Given the description of an element on the screen output the (x, y) to click on. 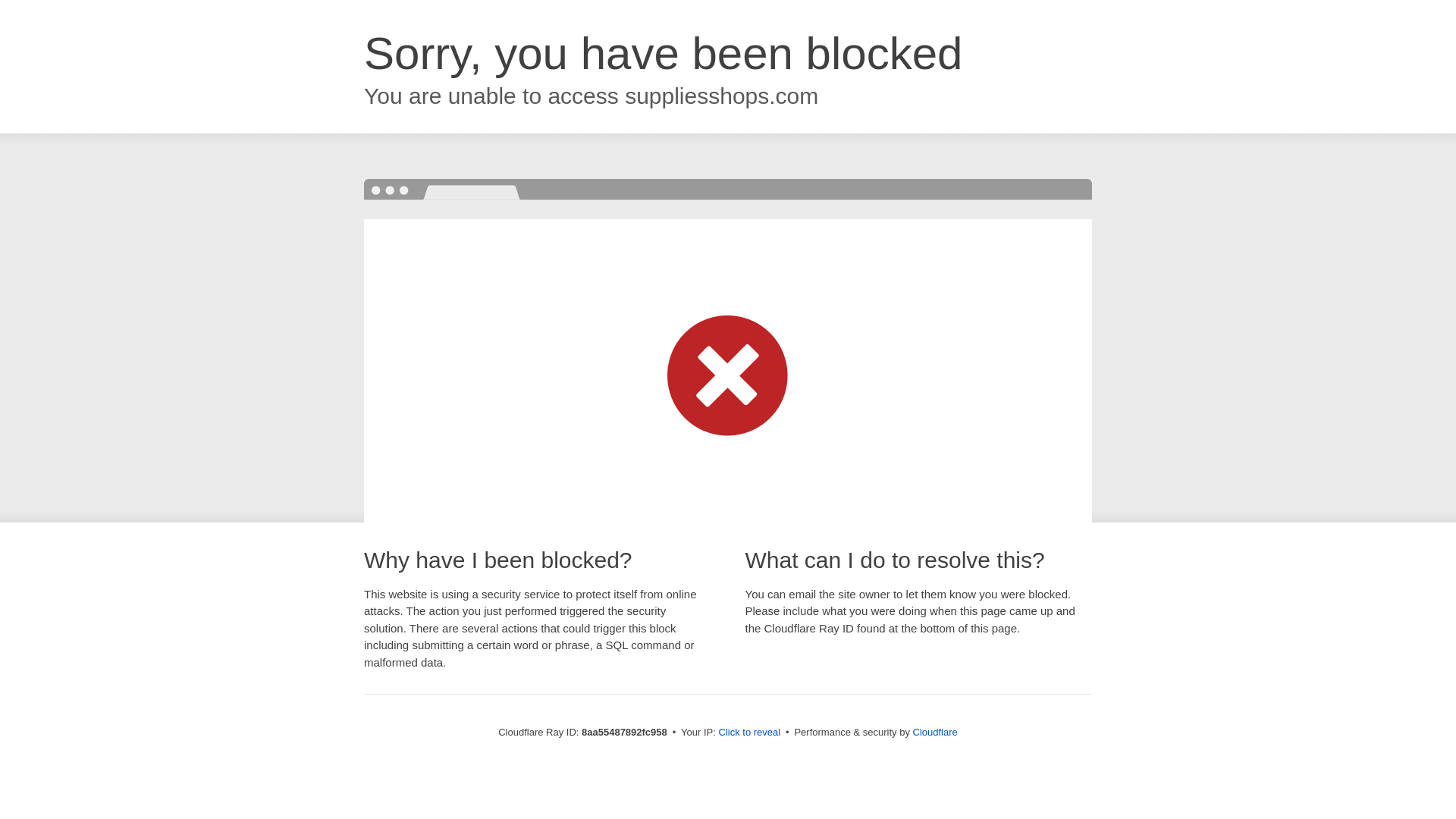
Click to reveal (749, 732)
Cloudflare (935, 731)
